Given the description of an element on the screen output the (x, y) to click on. 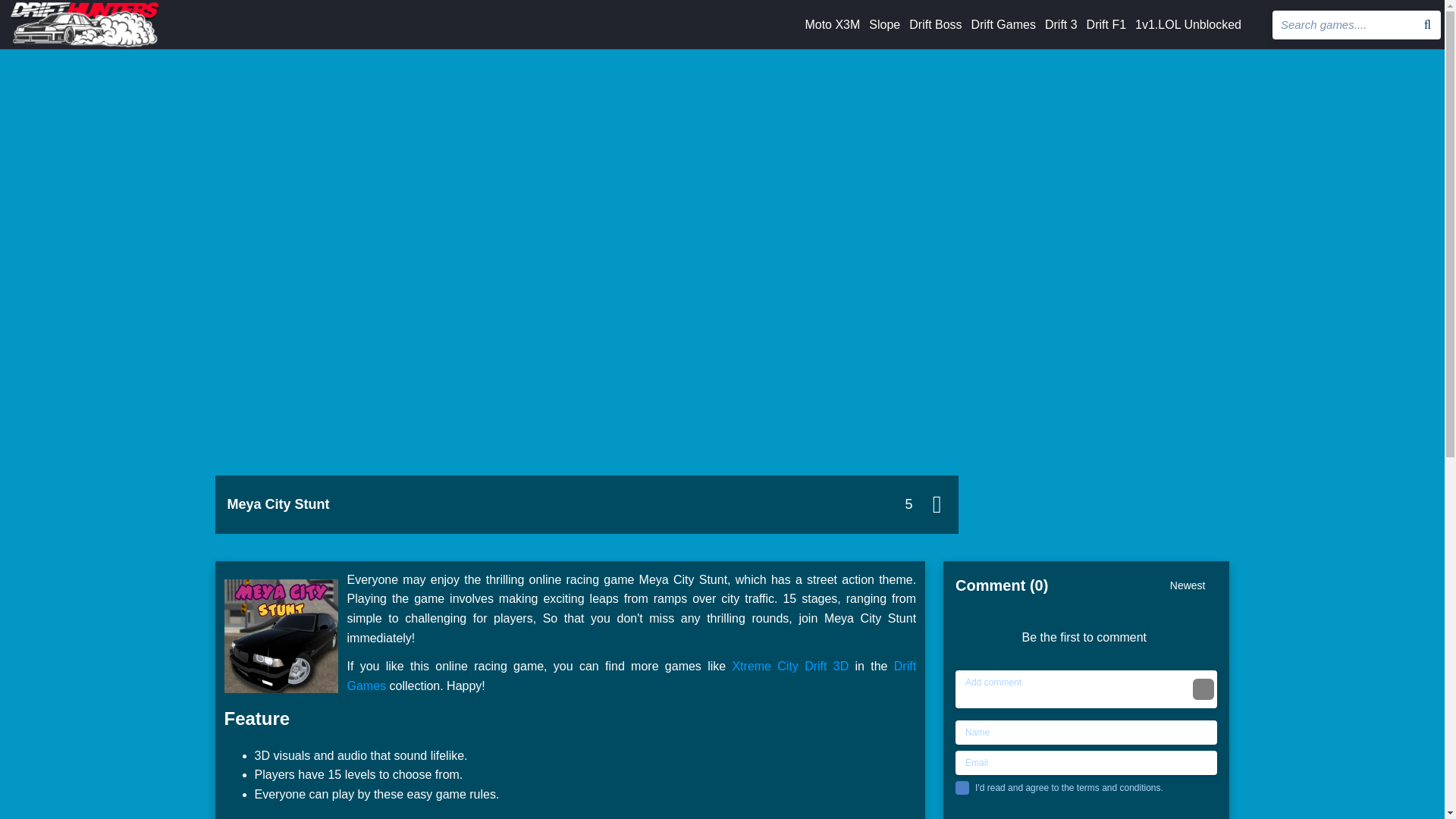
Xtreme City Drift 3D (790, 666)
Drift Games (1003, 25)
Drift Boss (934, 25)
1v1.LOL Unblocked (1188, 25)
1v1.LOL Unblocked (1188, 25)
Moto X3M (832, 25)
Be the first to comment (1089, 628)
Drift 3 (1061, 25)
Newest (1193, 592)
Drift F1 (1105, 25)
Go fullscreen (936, 503)
Drift F1 (1105, 25)
Drift 3 (1061, 25)
Slope (884, 25)
Drift Games (1003, 25)
